Given the description of an element on the screen output the (x, y) to click on. 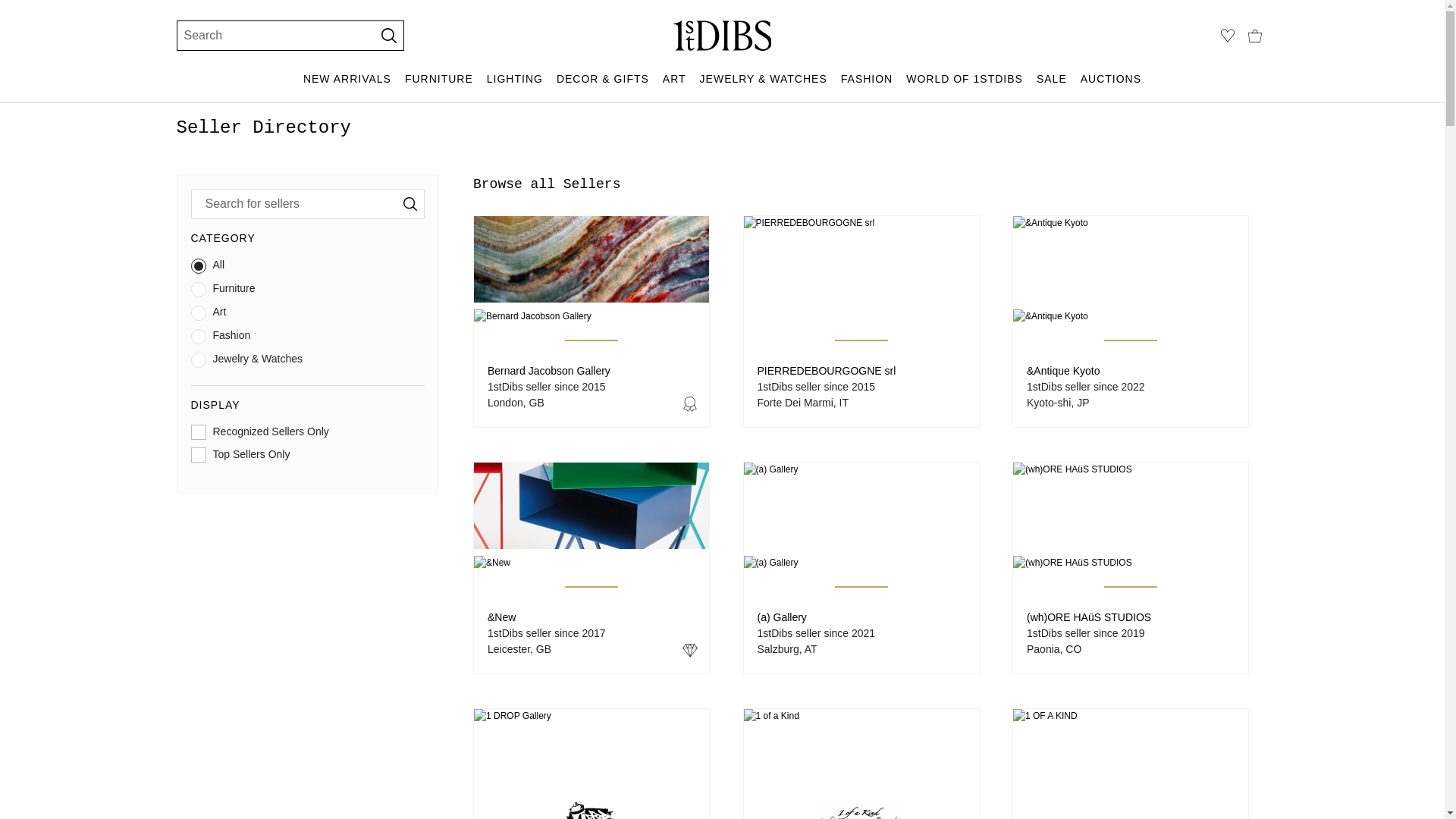
&New Element type: text (501, 617)
All Element type: text (308, 268)
Art Element type: text (308, 315)
WORLD OF 1STDIBS Element type: text (964, 86)
Fashion Element type: text (308, 339)
SALE Element type: text (1051, 86)
DECOR & GIFTS Element type: text (602, 86)
JEWELRY & WATCHES Element type: text (763, 86)
&Antique Kyoto Element type: text (1063, 370)
LIGHTING Element type: text (514, 86)
SKIP TO MAIN CONTENT Element type: text (6, 6)
(a) Gallery Element type: text (781, 617)
NEW ARRIVALS Element type: text (347, 86)
ART Element type: text (674, 86)
Top Sellers Only Element type: text (308, 457)
Recognized Sellers Only Element type: text (308, 434)
PIERREDEBOURGOGNE srl Element type: text (825, 370)
FURNITURE Element type: text (438, 86)
Bernard Jacobson Gallery Element type: text (548, 370)
AUCTIONS Element type: text (1110, 86)
FASHION Element type: text (866, 86)
Furniture Element type: text (308, 292)
Jewelry & Watches Element type: text (308, 362)
Search Element type: hover (268, 35)
